Given the description of an element on the screen output the (x, y) to click on. 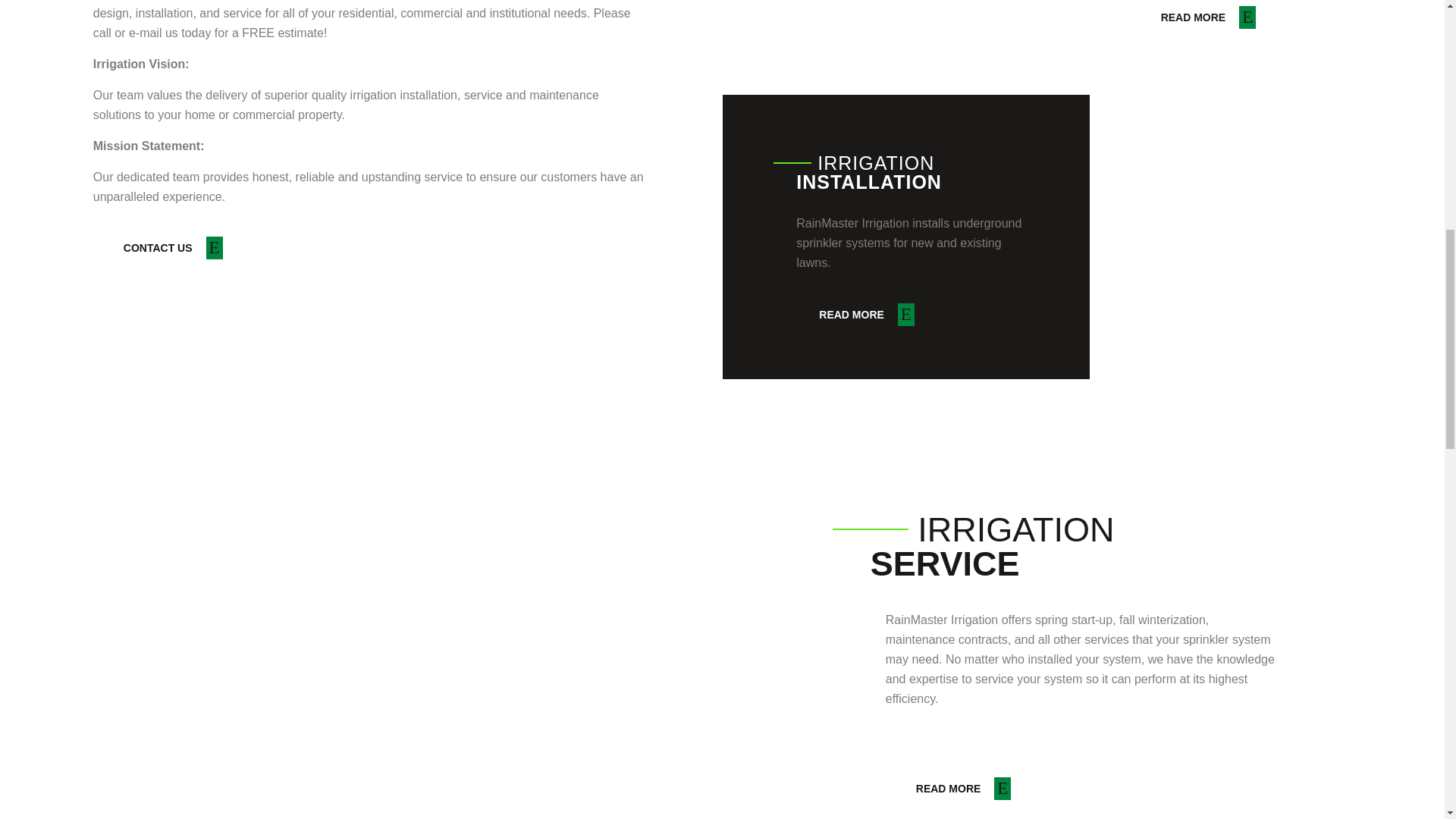
READ MORE (1208, 16)
READ MORE (866, 314)
READ MORE (963, 788)
CONTACT US (172, 247)
